Given the description of an element on the screen output the (x, y) to click on. 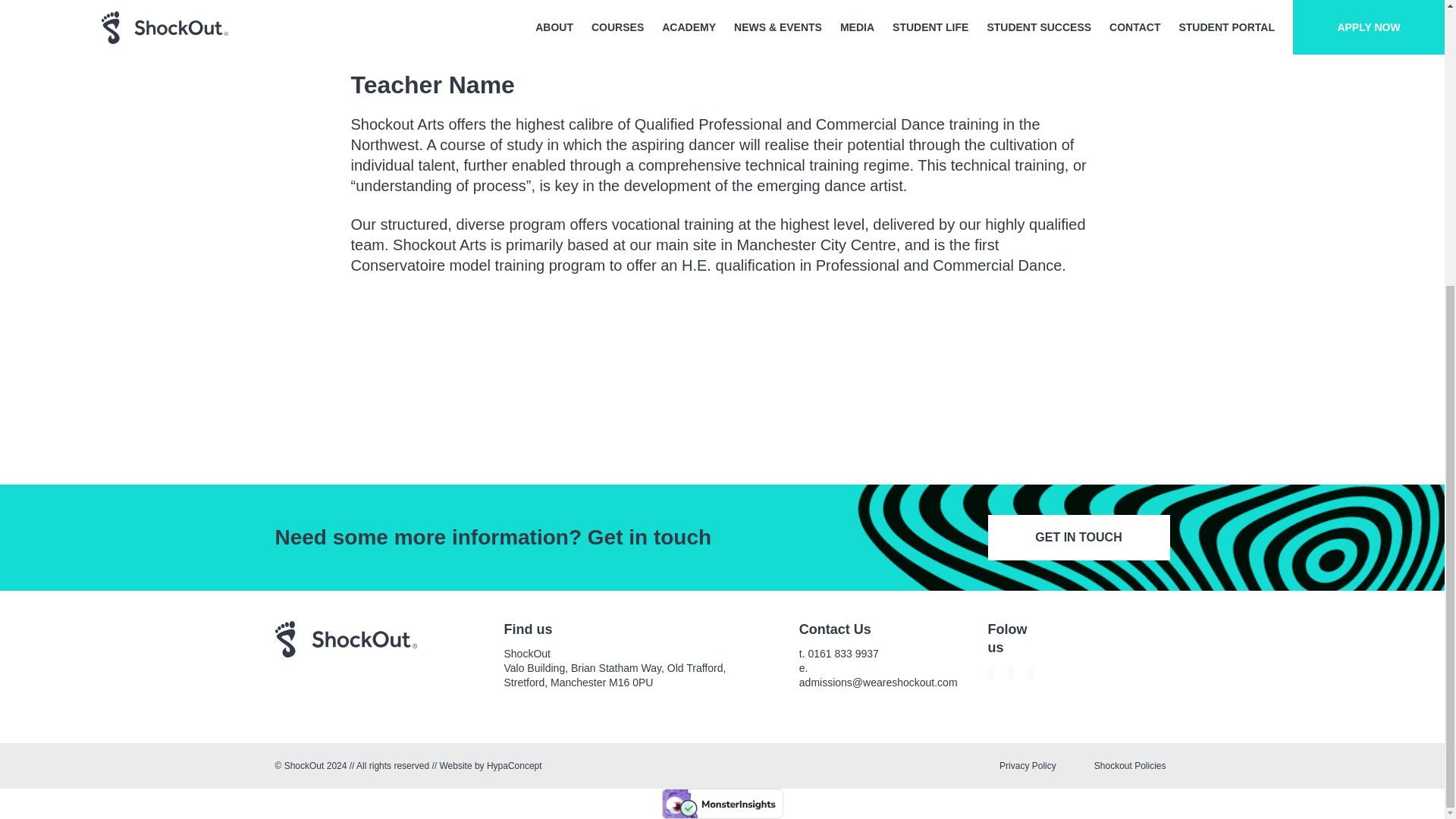
GET IN TOUCH (1078, 537)
HypaConcept (513, 765)
Privacy Policy (1027, 765)
Shockout Policies (1130, 765)
